Given the description of an element on the screen output the (x, y) to click on. 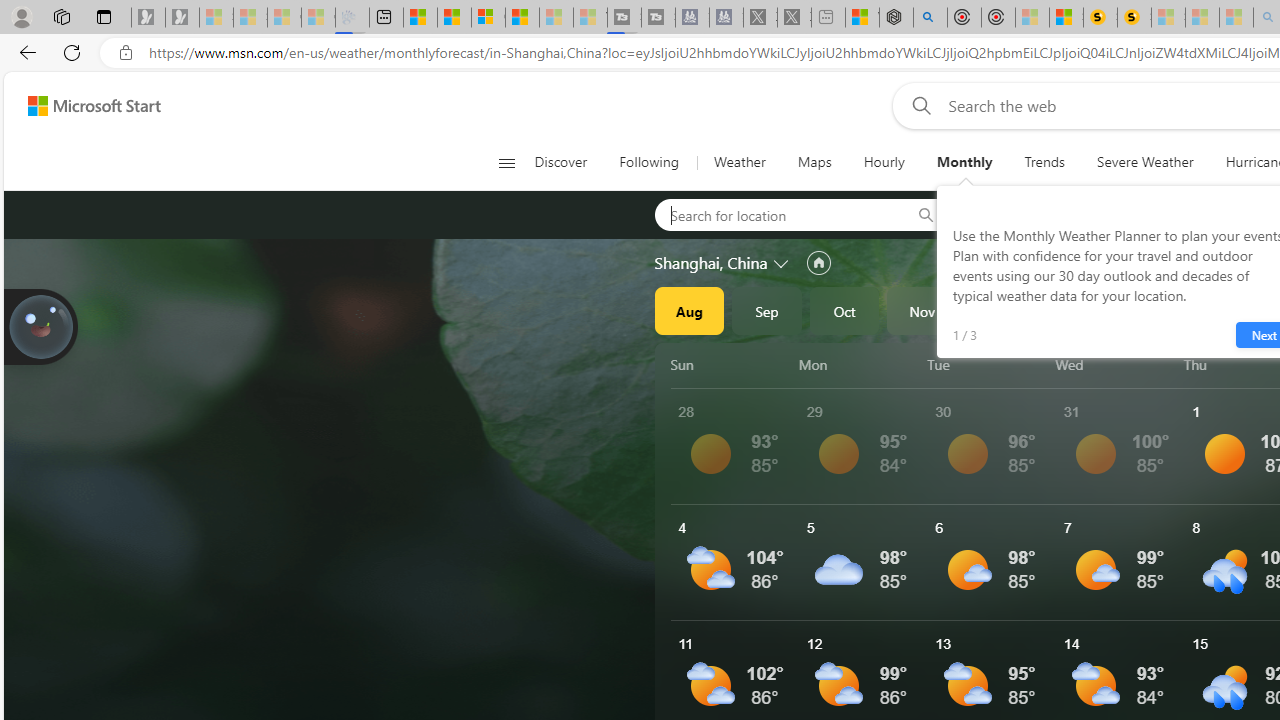
Oct (844, 310)
Set as primary location (818, 263)
Severe Weather (1145, 162)
Mon (859, 363)
Nov (922, 310)
